Given the description of an element on the screen output the (x, y) to click on. 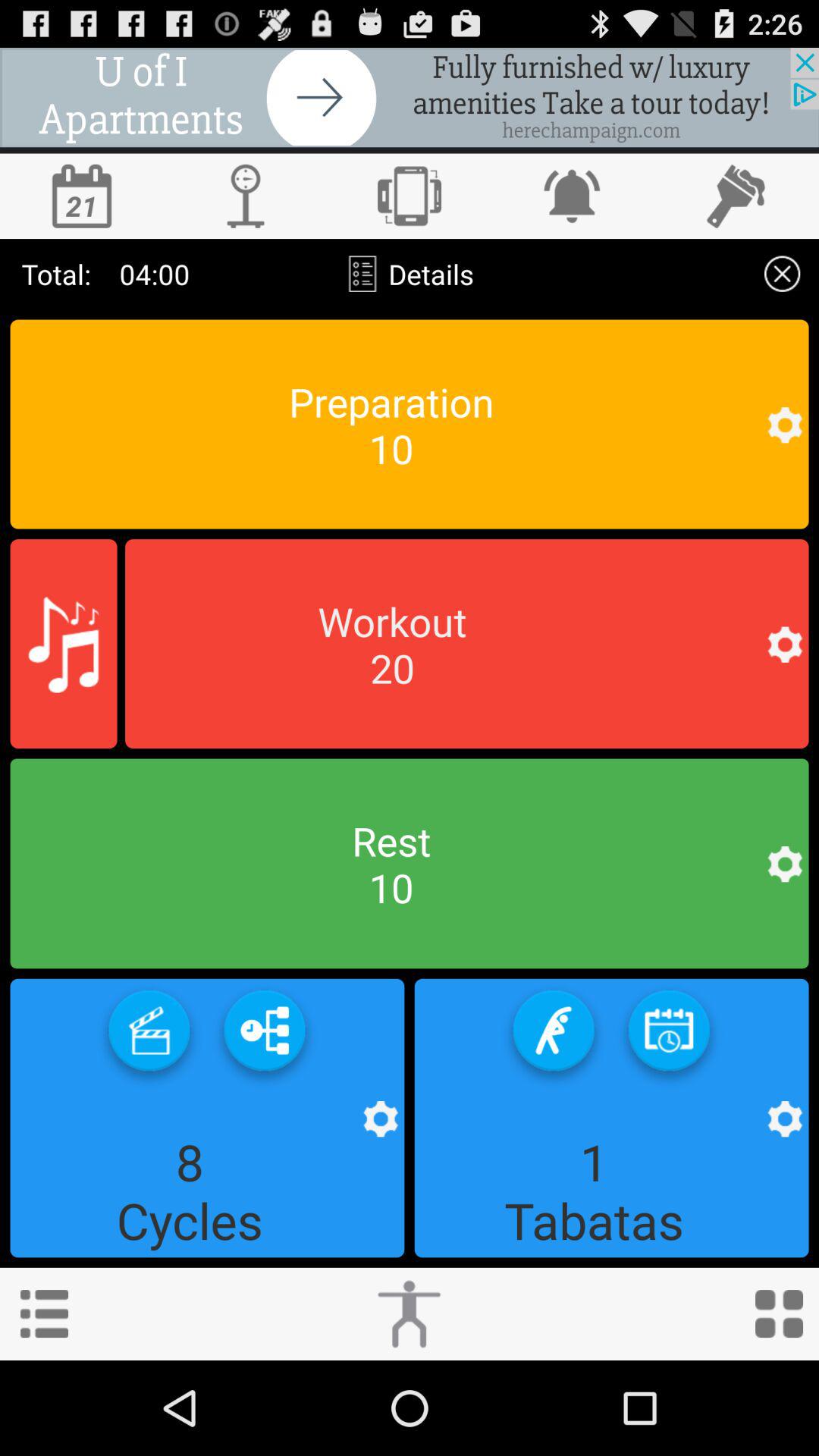
bell (573, 195)
